Given the description of an element on the screen output the (x, y) to click on. 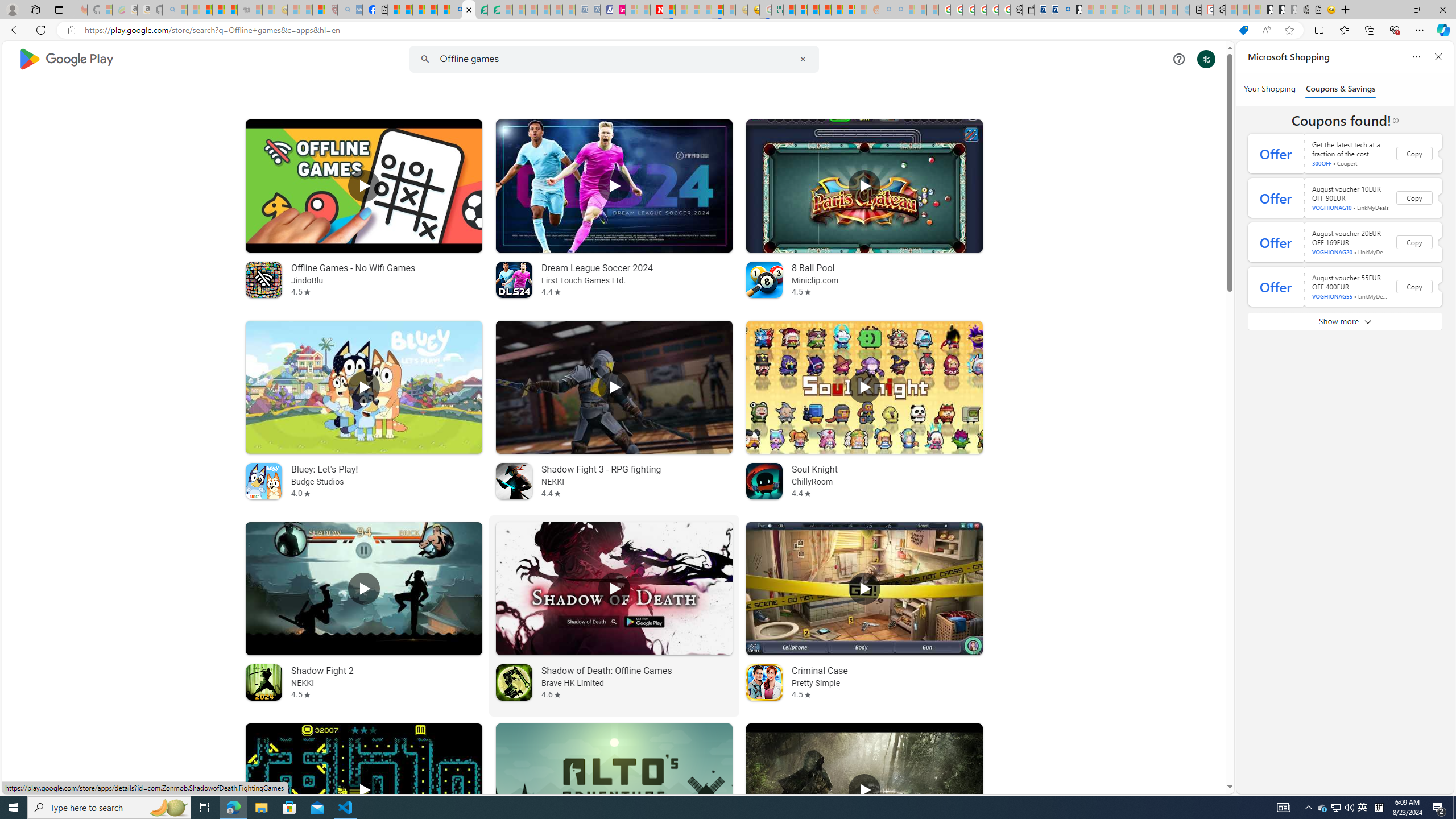
Play Dream League Soccer 2024 (613, 185)
Pets - MSN (431, 9)
Play Shadow of Death: Offline Games (613, 588)
Offline games - Android Apps on Google Play (468, 9)
Play Bluey: Let's Play! (363, 386)
Play 8 Ball Pool (864, 185)
